Given the description of an element on the screen output the (x, y) to click on. 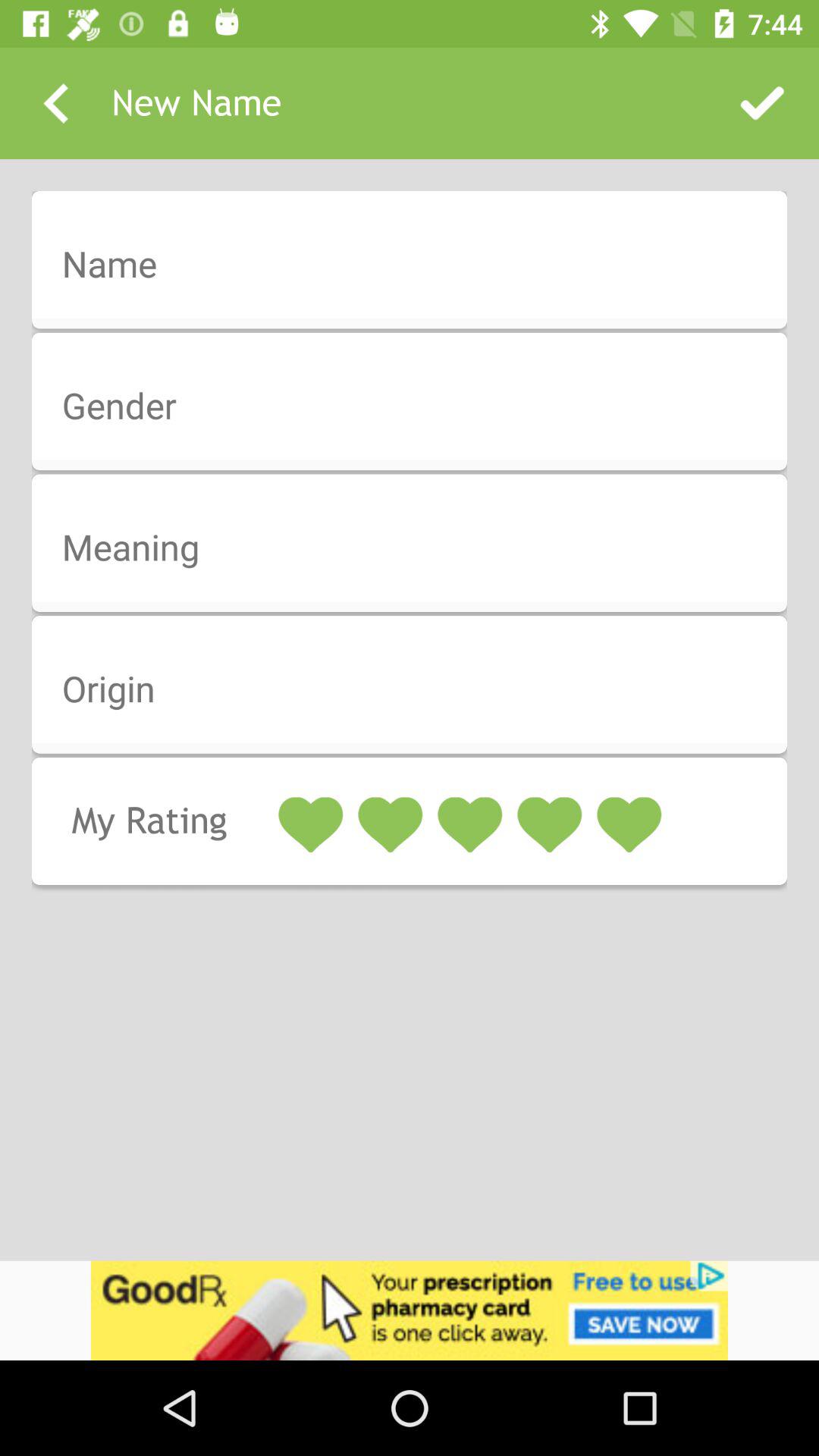
goes to goodrx website (409, 1310)
